Given the description of an element on the screen output the (x, y) to click on. 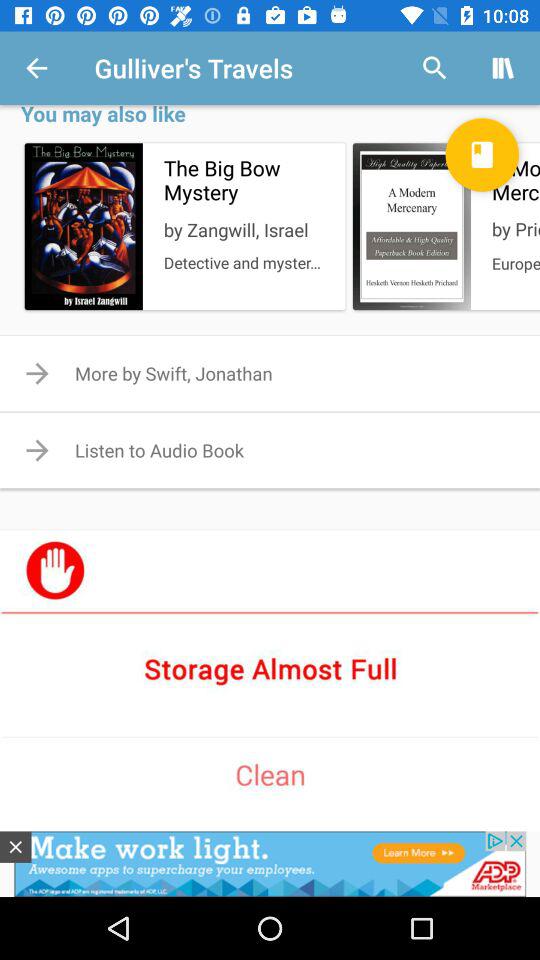
storage checker (270, 668)
